Given the description of an element on the screen output the (x, y) to click on. 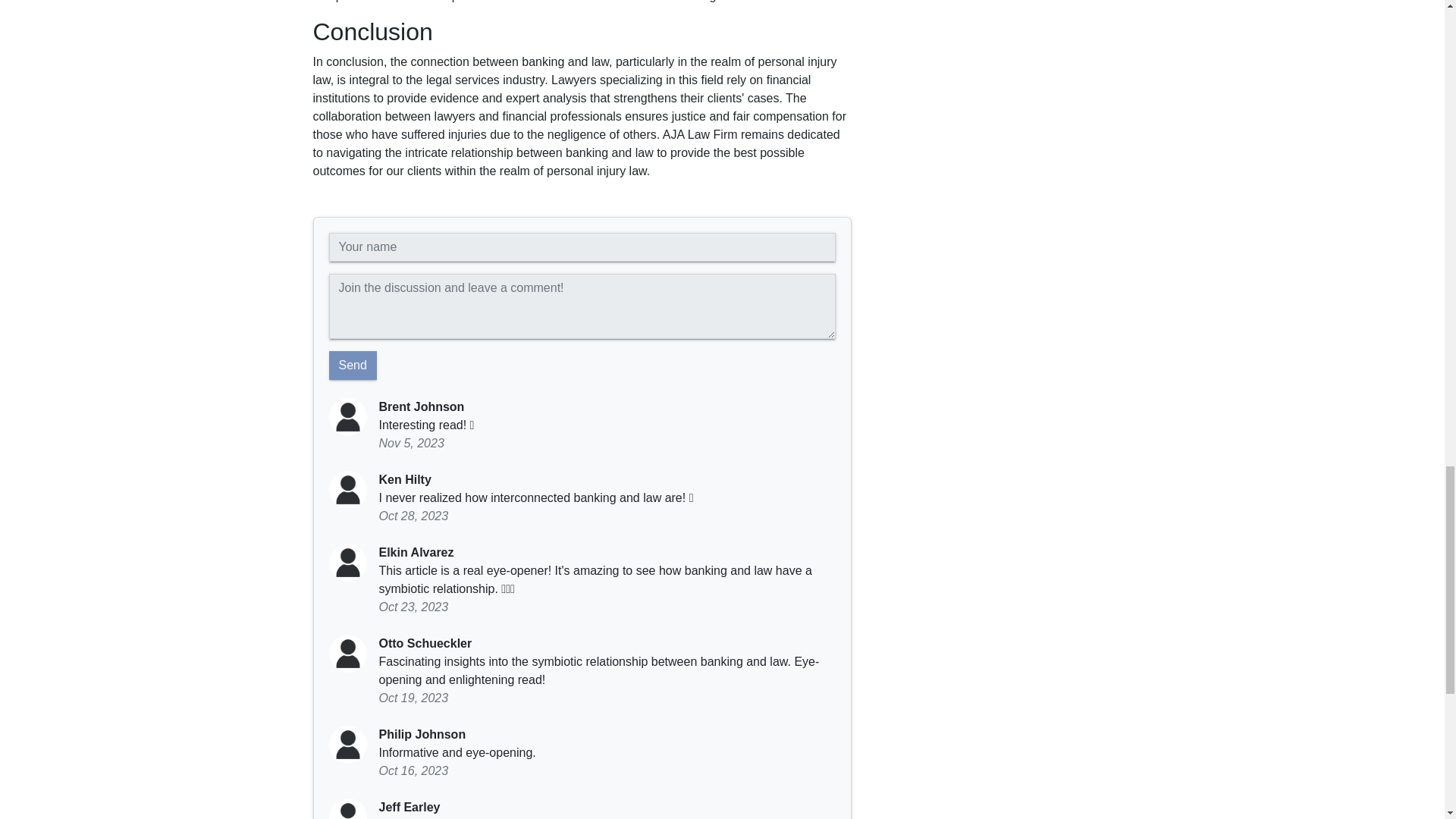
Send (353, 365)
Send (353, 365)
